Given the description of an element on the screen output the (x, y) to click on. 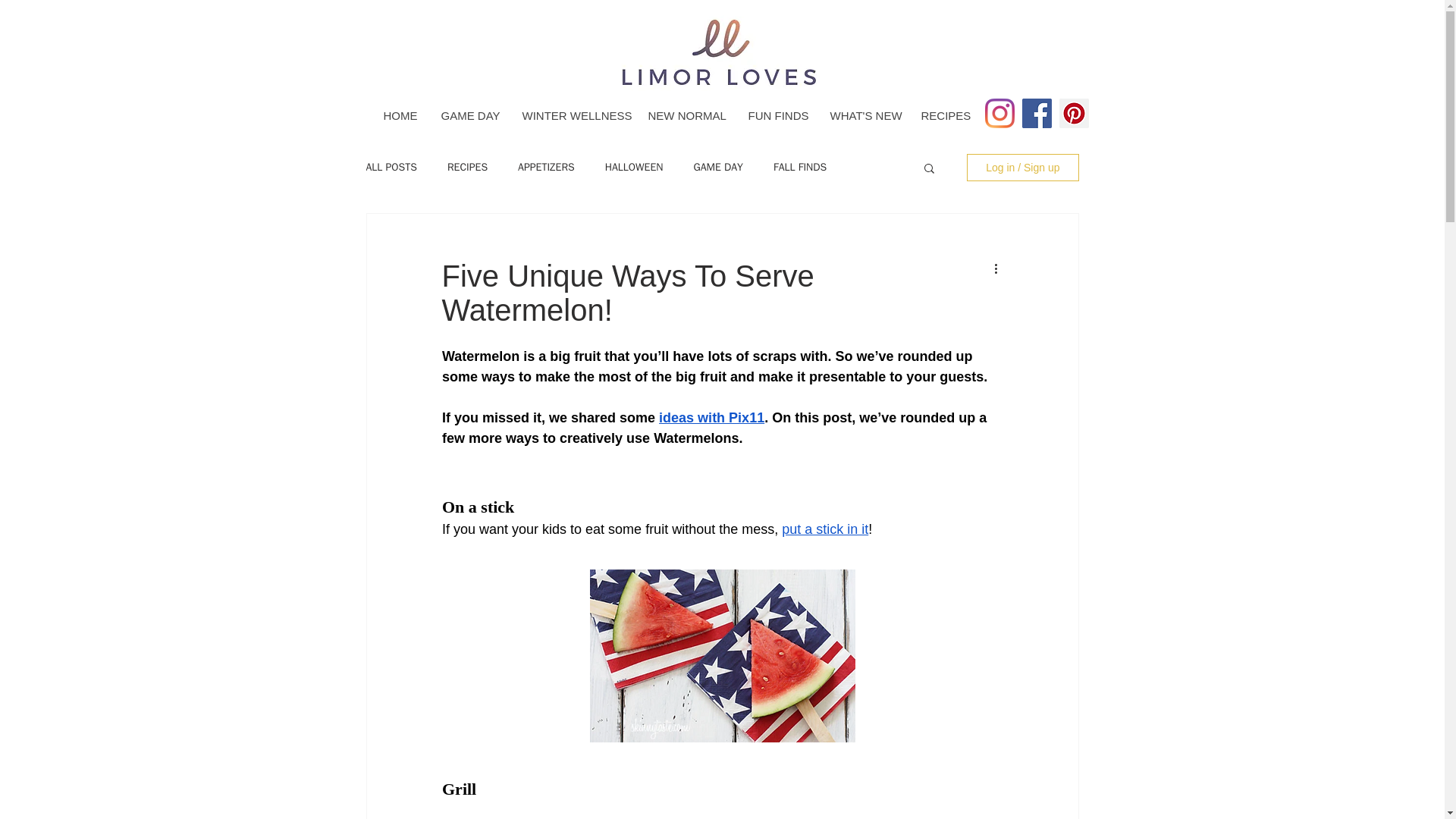
RECIPES (466, 167)
HOME (399, 115)
ALL POSTS (390, 167)
GAME DAY (470, 115)
WINTER WELLNESS (571, 115)
NEW NORMAL (684, 115)
RECIPES (943, 115)
APPETIZERS (546, 167)
HALLOWEEN (634, 167)
WHAT'S NEW (862, 115)
FUN FINDS (775, 115)
GAME DAY (717, 167)
FALL FINDS (800, 167)
